Given the description of an element on the screen output the (x, y) to click on. 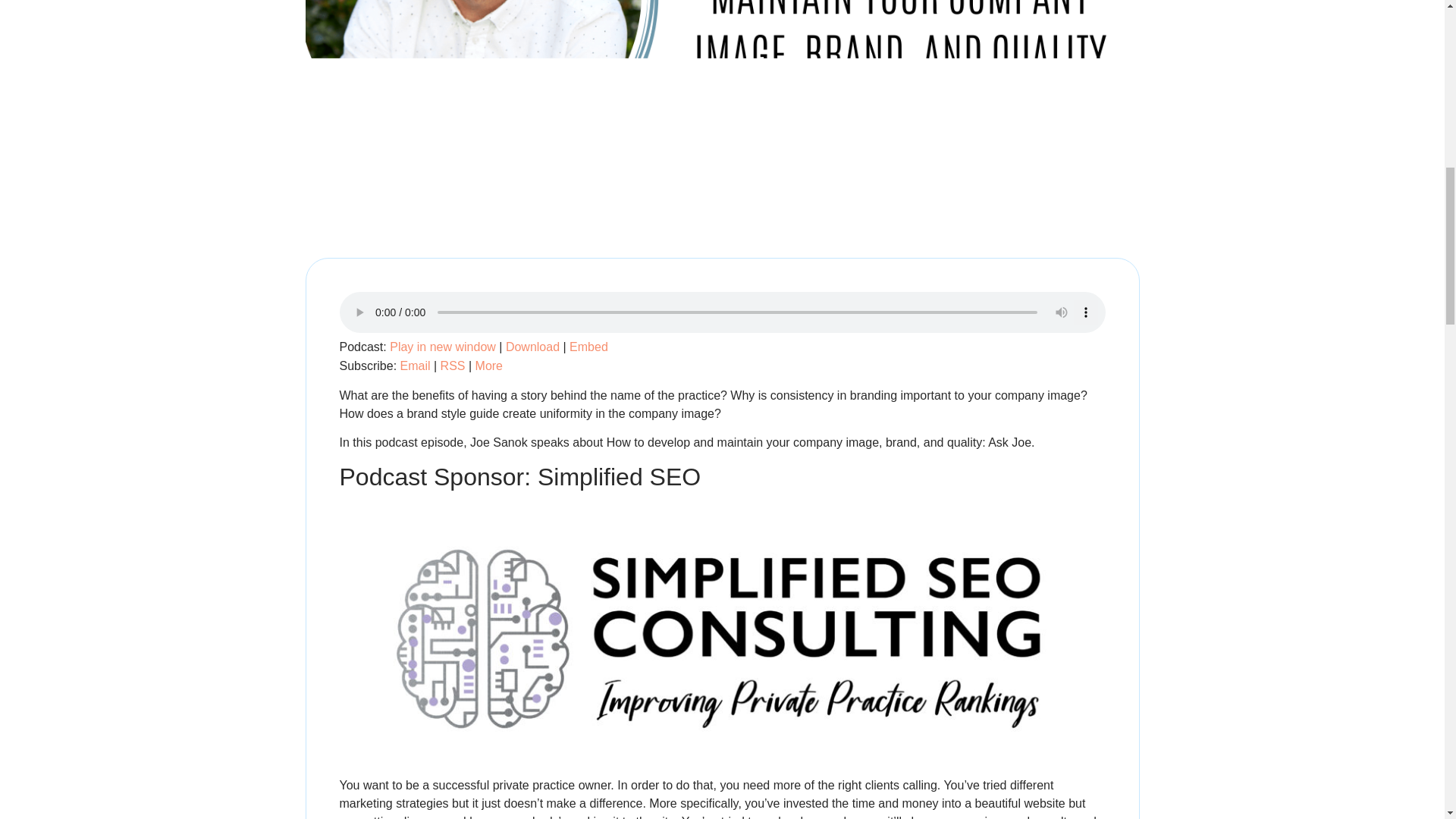
Embed (588, 346)
Subscribe by Email (415, 365)
Download (532, 346)
More (489, 365)
Subscribe via RSS (453, 365)
Play in new window (443, 346)
